Given the description of an element on the screen output the (x, y) to click on. 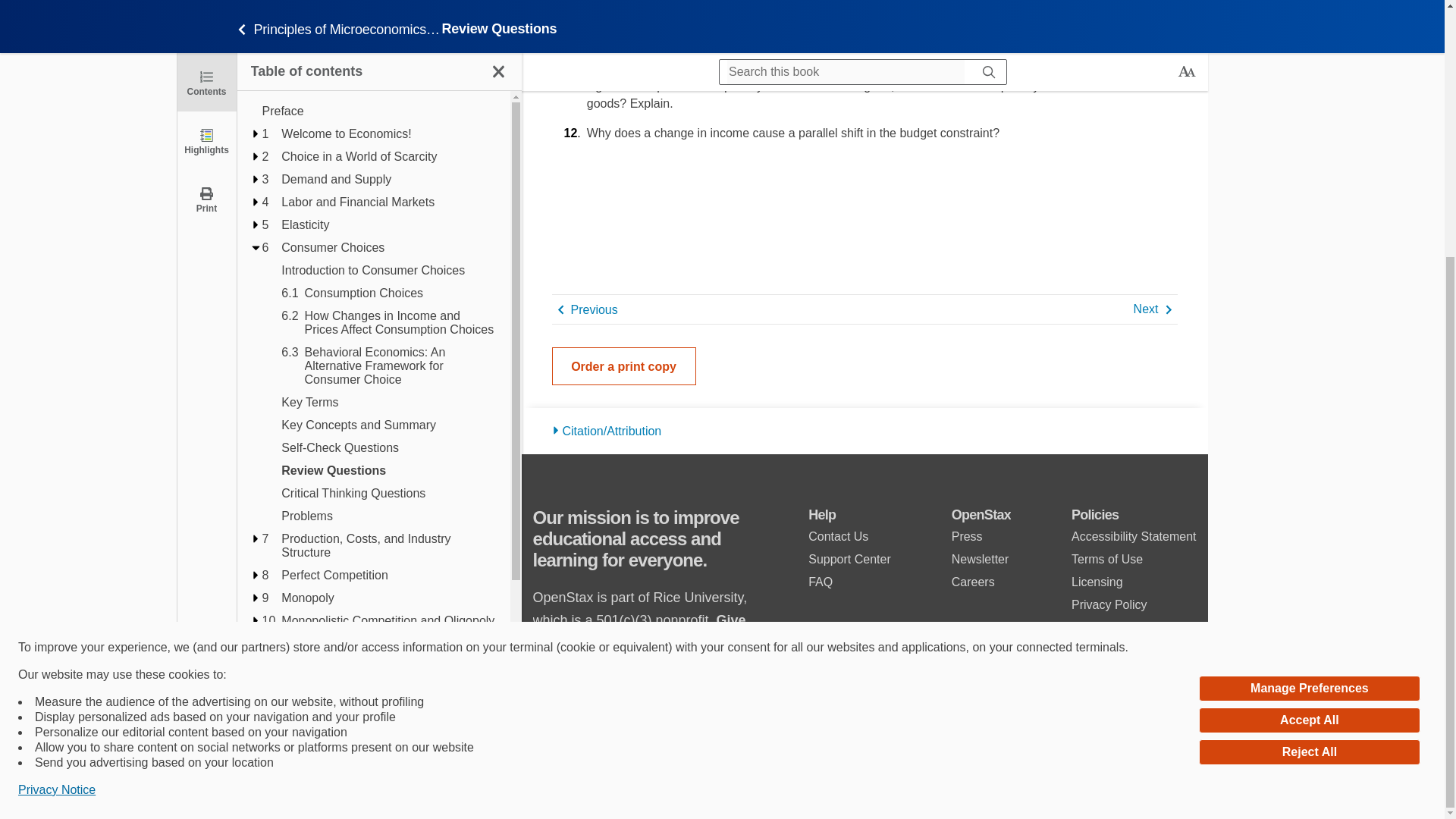
Privacy Notice (56, 425)
Reject All (1309, 387)
Manage Preferences (1309, 323)
Accept All (1309, 355)
